Given the description of an element on the screen output the (x, y) to click on. 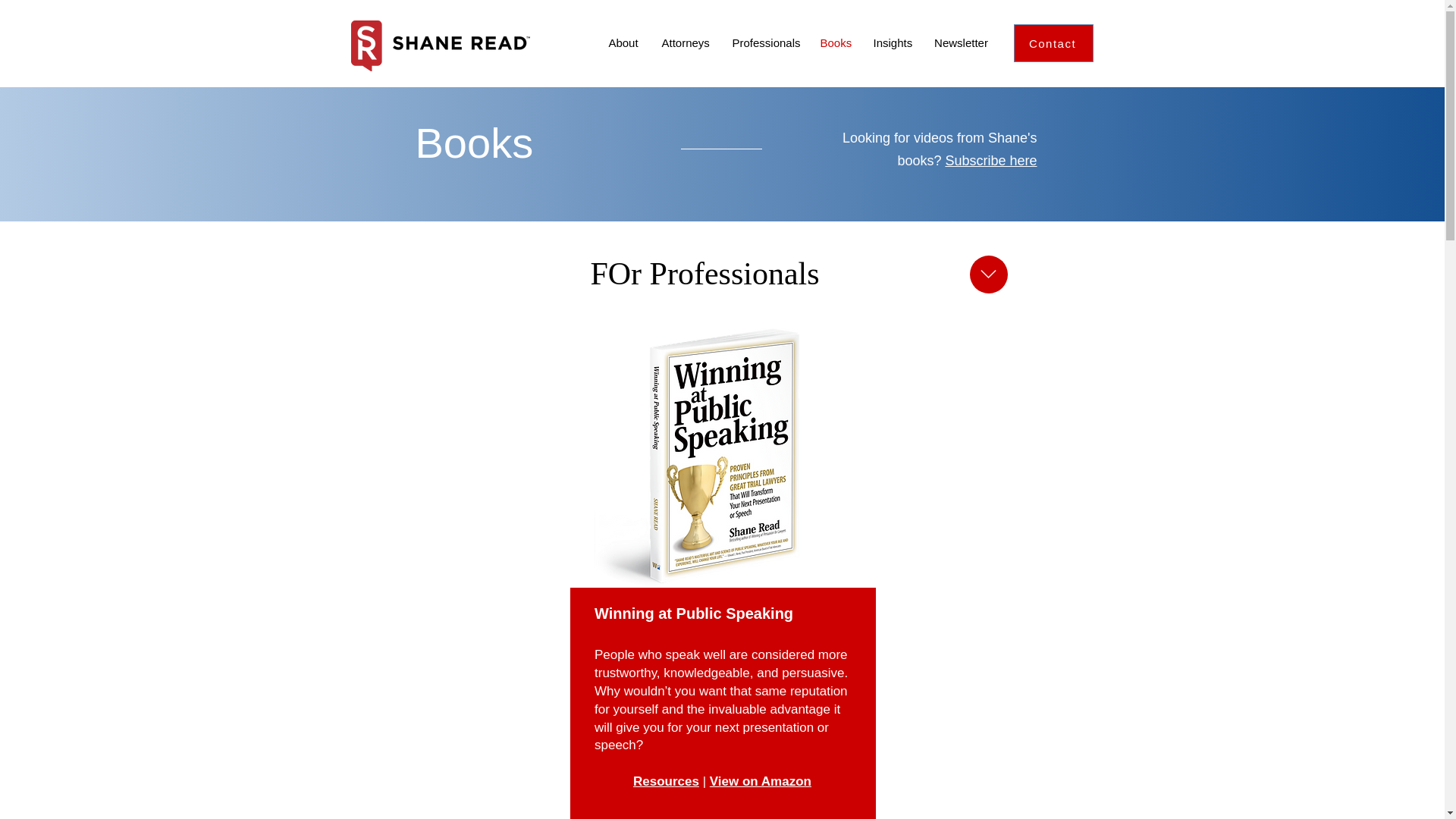
Professionals (764, 43)
About (622, 43)
Contact (1053, 43)
View on Amazon (760, 780)
Subscribe here (990, 160)
Insights (891, 43)
Books (834, 43)
Newsletter (959, 43)
Attorneys (685, 43)
